Given the description of an element on the screen output the (x, y) to click on. 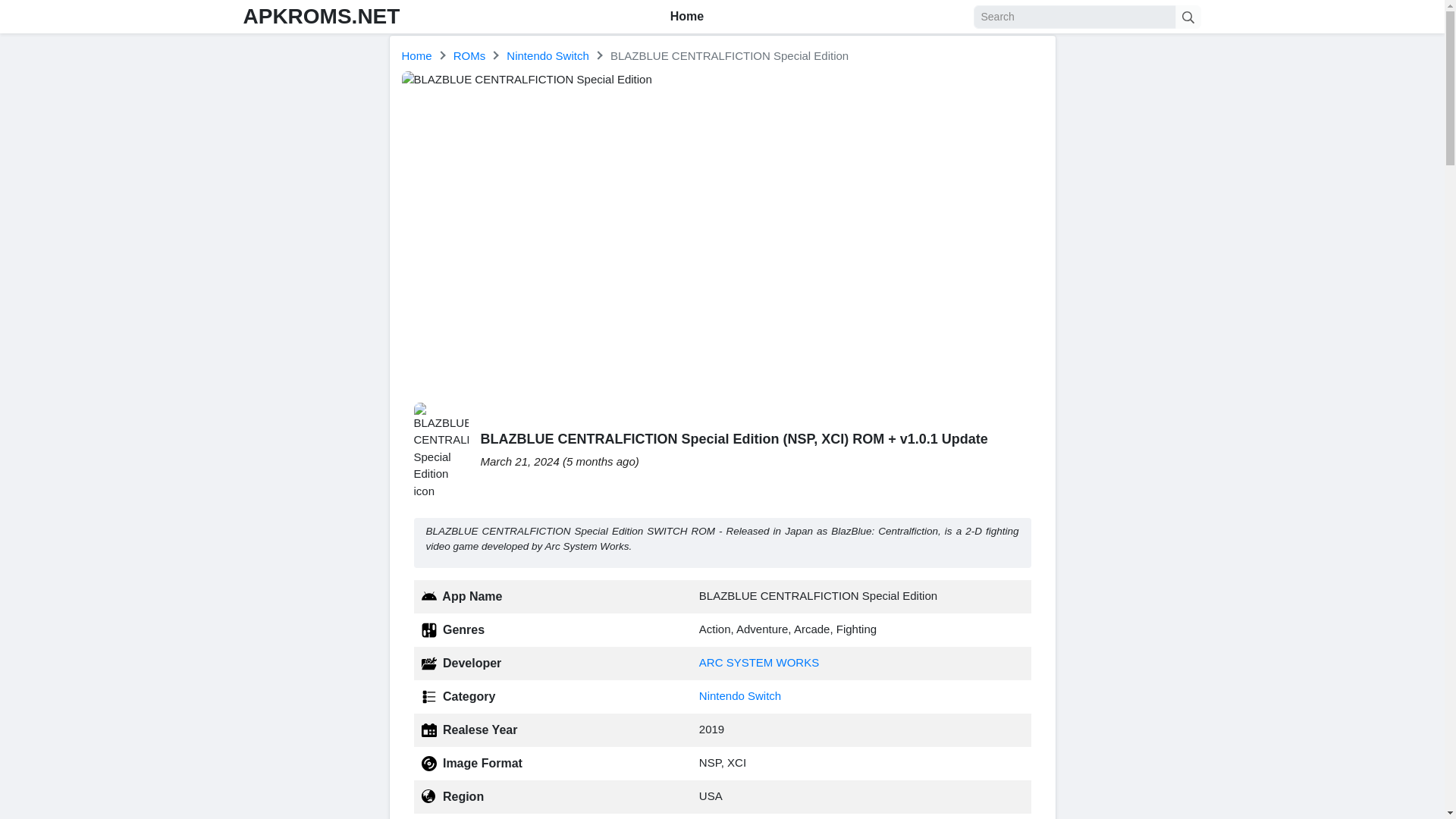
ROMs (469, 55)
Home (416, 55)
APKROMS.NET (320, 15)
Nintendo Switch (739, 695)
Nintendo Switch (547, 55)
Home (687, 16)
Home (416, 55)
ARC SYSTEM WORKS (758, 662)
